Given the description of an element on the screen output the (x, y) to click on. 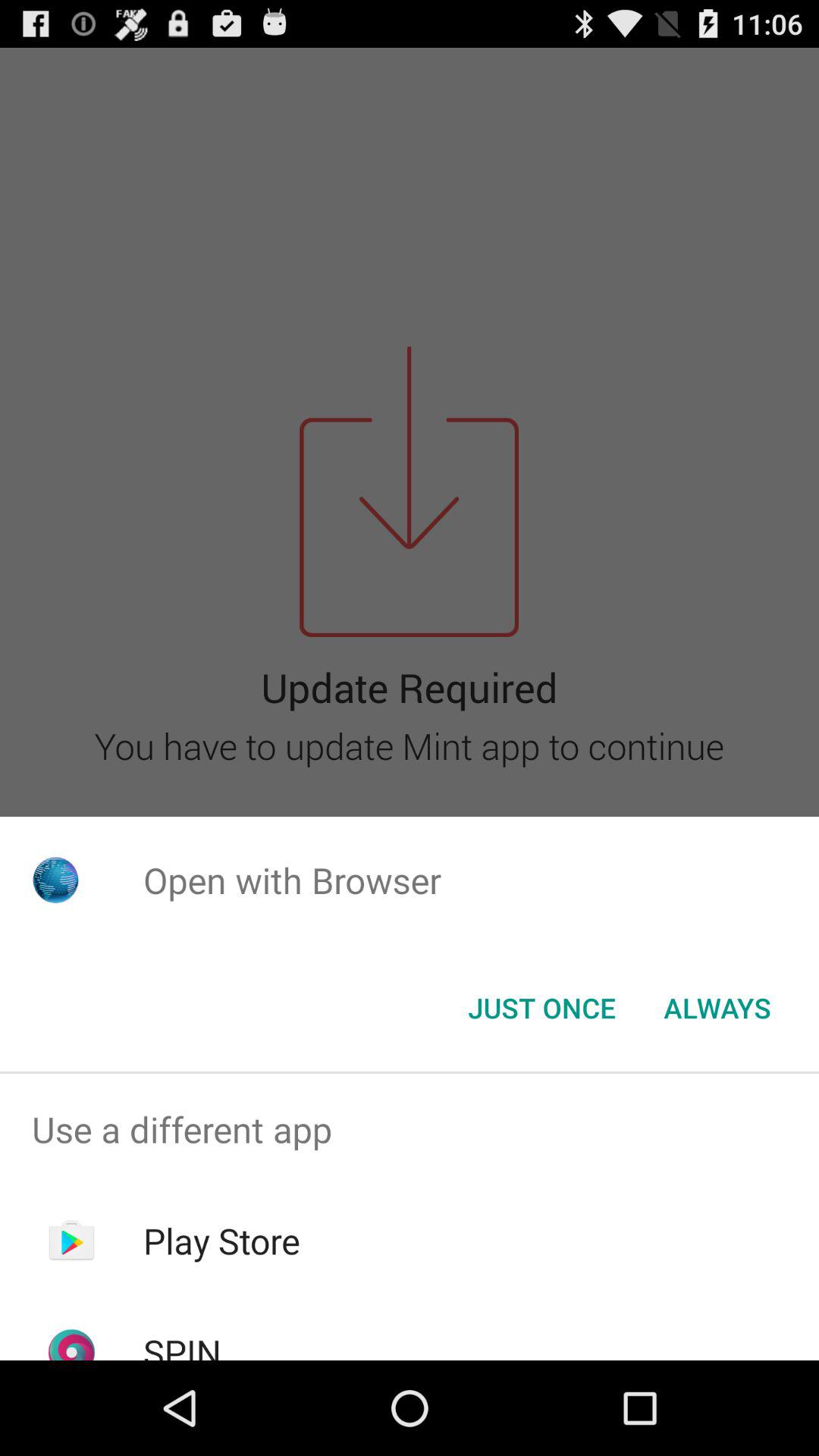
swipe until the spin (182, 1344)
